Given the description of an element on the screen output the (x, y) to click on. 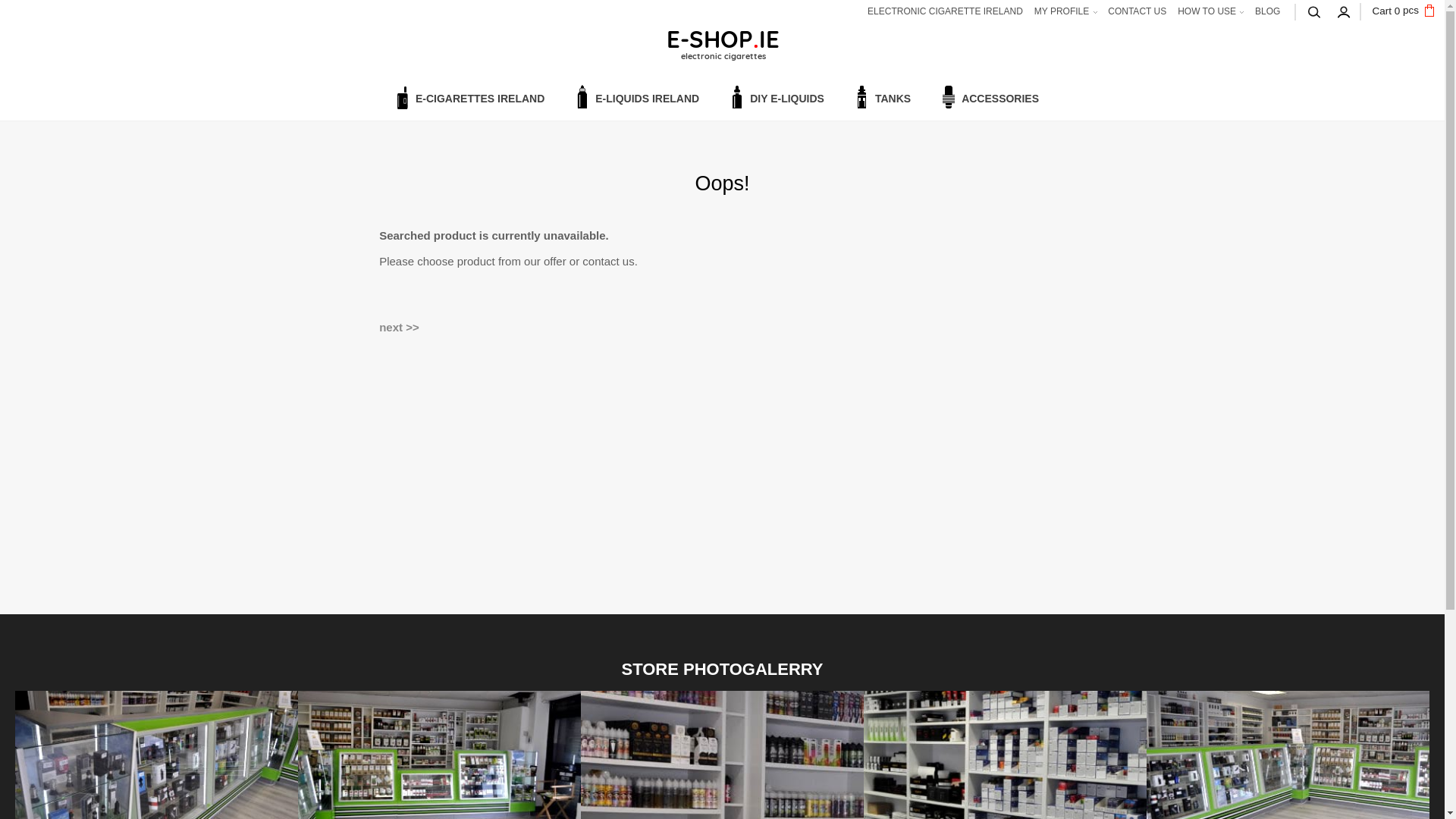
MY PROFILE (1063, 11)
ELECTRONIC CIGARETTE IRELAND (943, 11)
E-CIGARETTES IRELAND (469, 99)
Sign in (1344, 10)
BLOG (1265, 11)
HOW TO USE (1208, 11)
CONTACT US (1135, 11)
Cart 0 pcs (1402, 10)
